Given the description of an element on the screen output the (x, y) to click on. 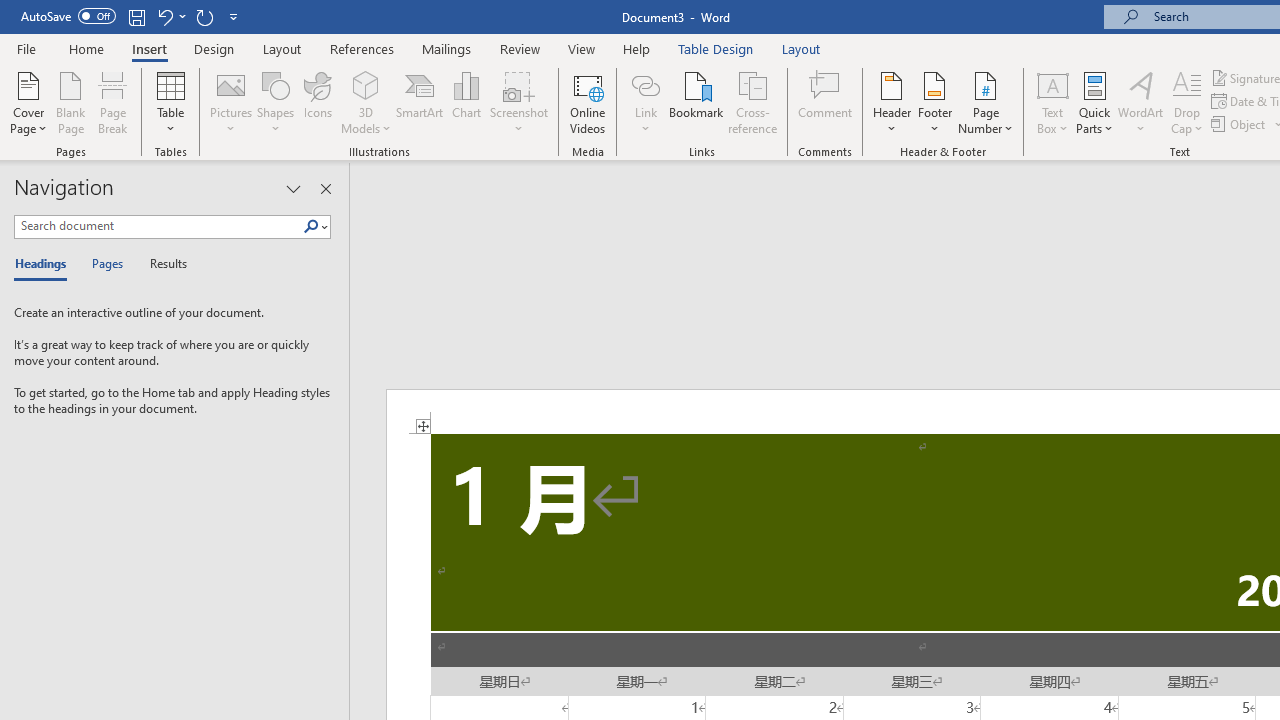
Mailings (447, 48)
Save (136, 15)
Undo Increase Indent (170, 15)
Repeat Doc Close (204, 15)
Header (891, 102)
Class: NetUIImage (311, 226)
Help (637, 48)
Design (214, 48)
Quick Parts (1094, 102)
File Tab (26, 48)
Online Videos... (588, 102)
Search (315, 227)
Task Pane Options (293, 188)
Pages (105, 264)
